Given the description of an element on the screen output the (x, y) to click on. 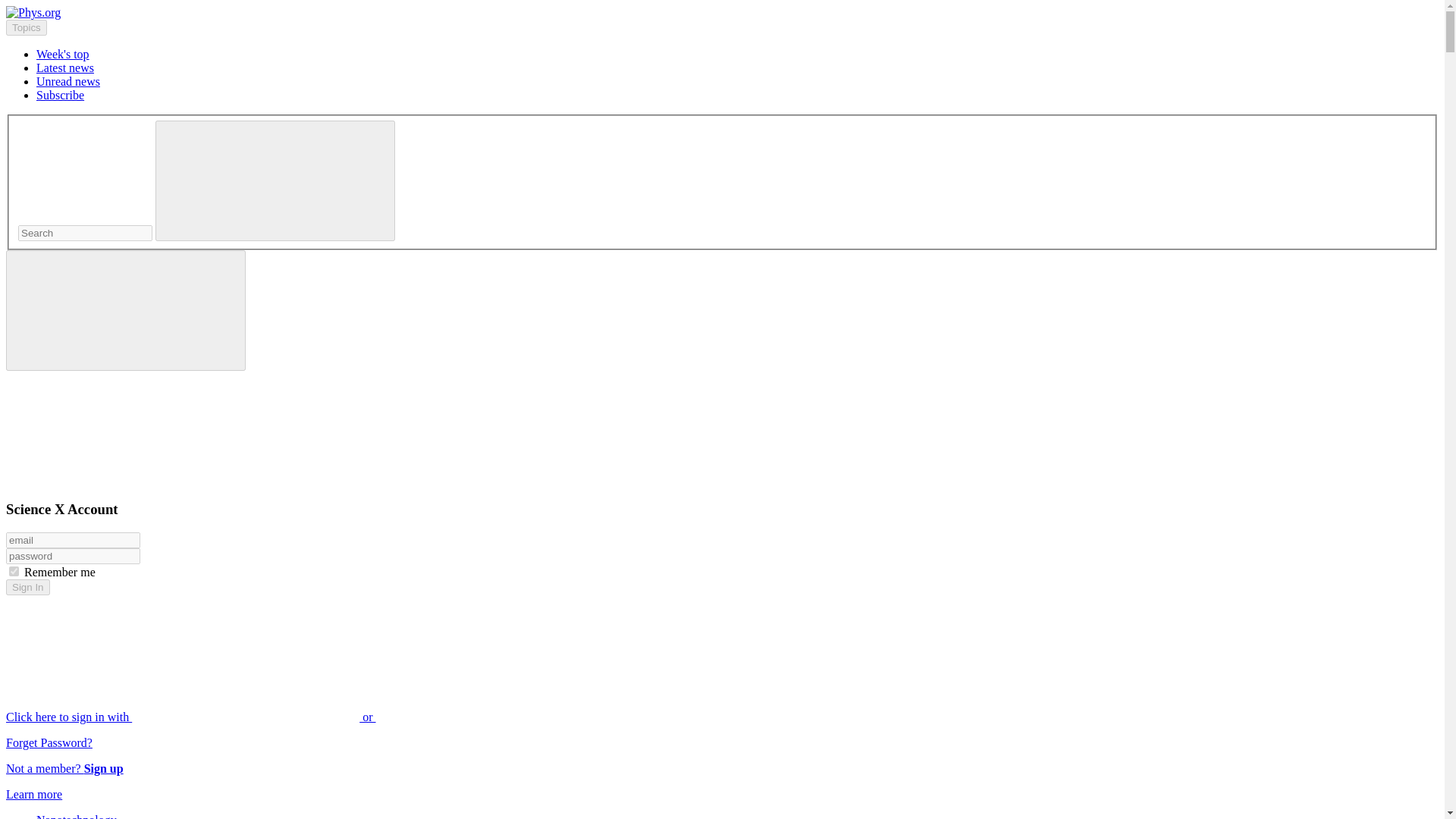
Week's top (62, 53)
Unread news (68, 81)
on (13, 571)
Latest news (65, 67)
Sign In (27, 587)
Not a member? Sign up (64, 768)
Click here to sign in with or (304, 716)
Subscribe (60, 94)
Learn more (33, 793)
Topics (25, 27)
